Given the description of an element on the screen output the (x, y) to click on. 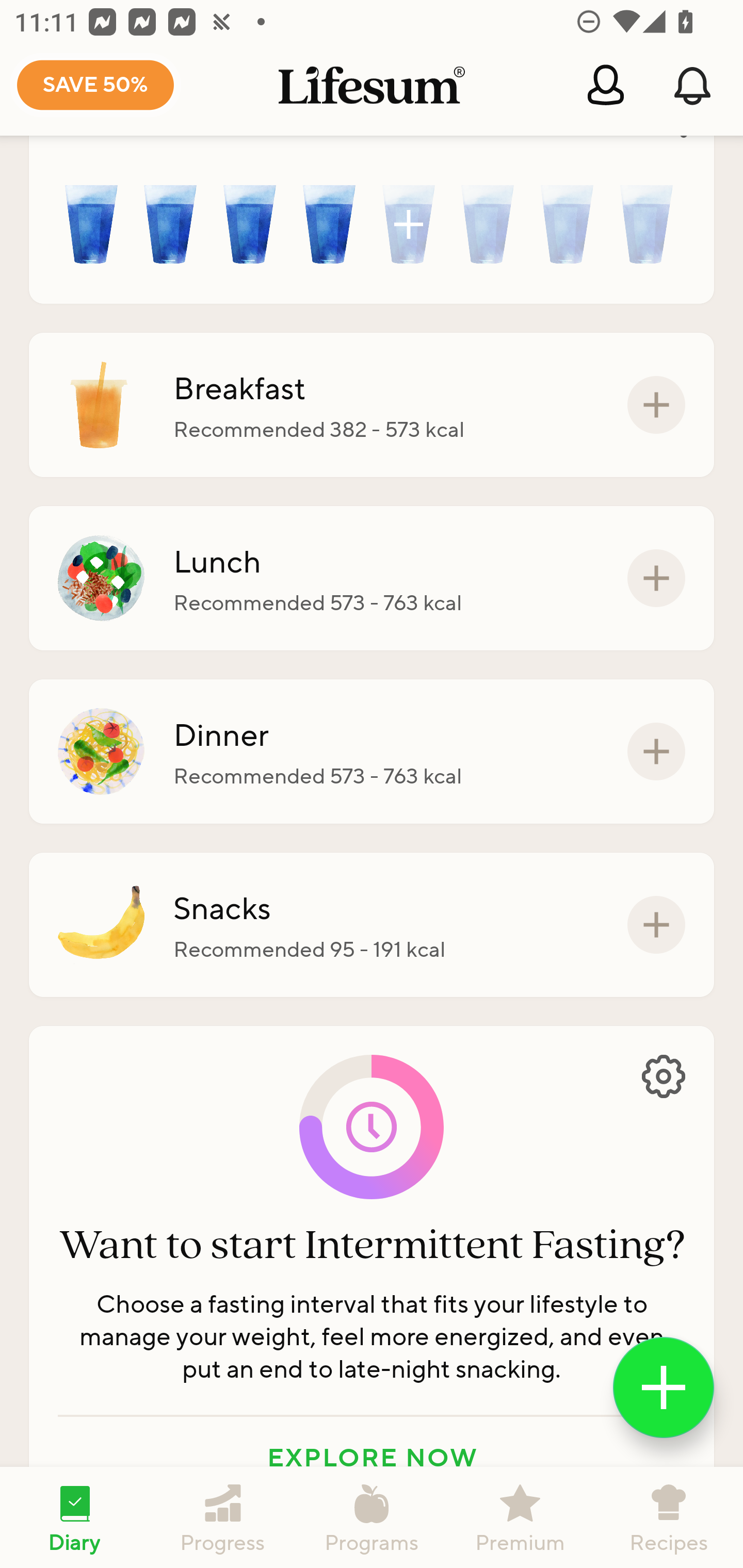
Breakfast Recommended 382 - 573 kcal (371, 404)
Lunch Recommended 573 - 763 kcal (371, 578)
Dinner Recommended 573 - 763 kcal (371, 750)
Snacks Recommended 95 - 191 kcal (371, 924)
EXPLORE NOW (371, 1457)
Progress (222, 1517)
Programs (371, 1517)
Premium (519, 1517)
Recipes (668, 1517)
